Given the description of an element on the screen output the (x, y) to click on. 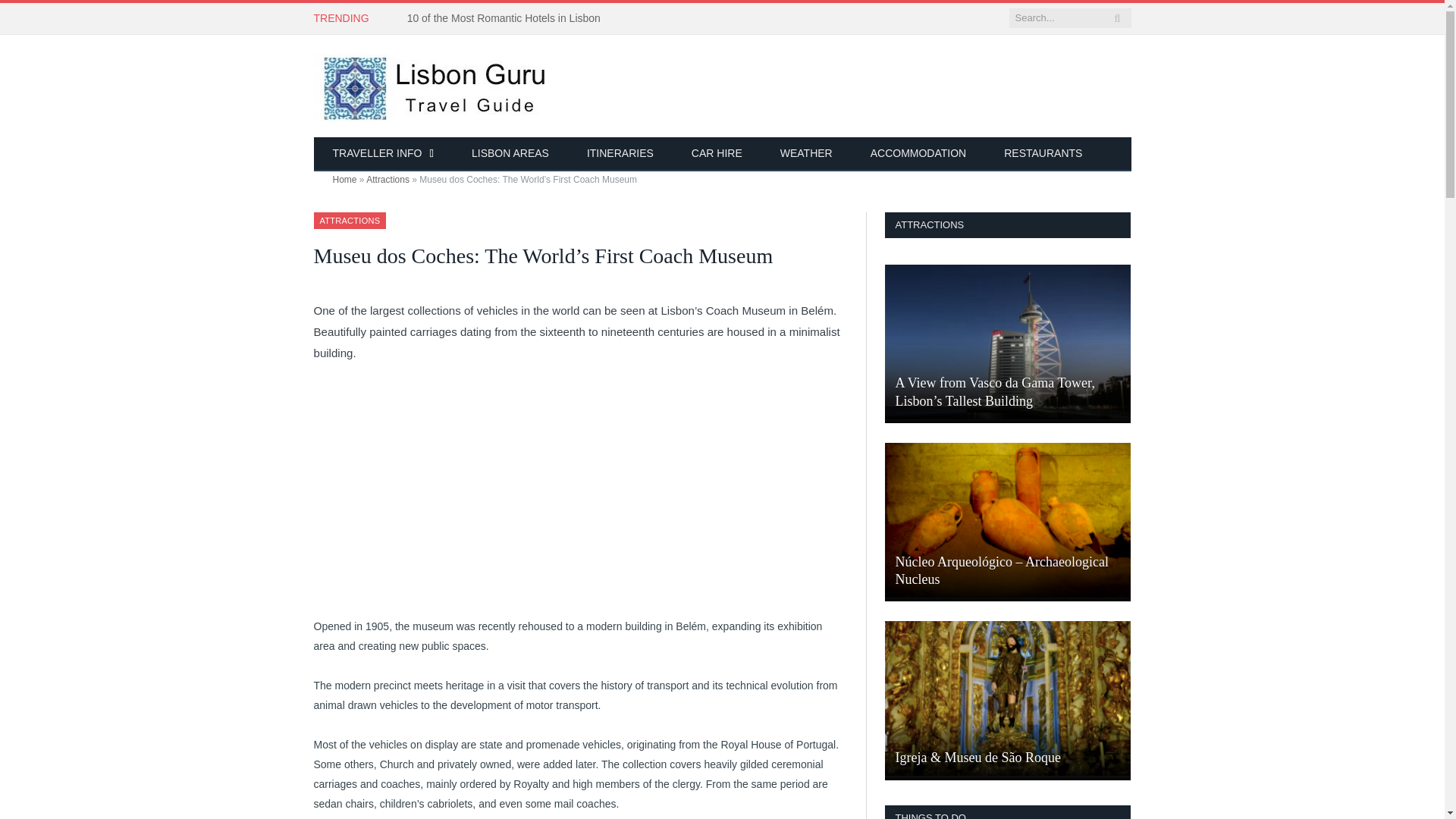
Advertisement (579, 490)
10 of the Most Romantic Hotels in Lisbon (507, 18)
ITINERARIES (619, 154)
WEATHER (806, 154)
Attractions (350, 220)
CAR HIRE (716, 154)
Attractions (387, 179)
ATTRACTIONS (350, 220)
RESTAURANTS (1042, 154)
Lisbon Guru (438, 85)
TRAVELLER INFO (383, 154)
Home (343, 179)
LISBON AREAS (509, 154)
10 of the Most Romantic Hotels in Lisbon (507, 18)
ACCOMMODATION (918, 154)
